Given the description of an element on the screen output the (x, y) to click on. 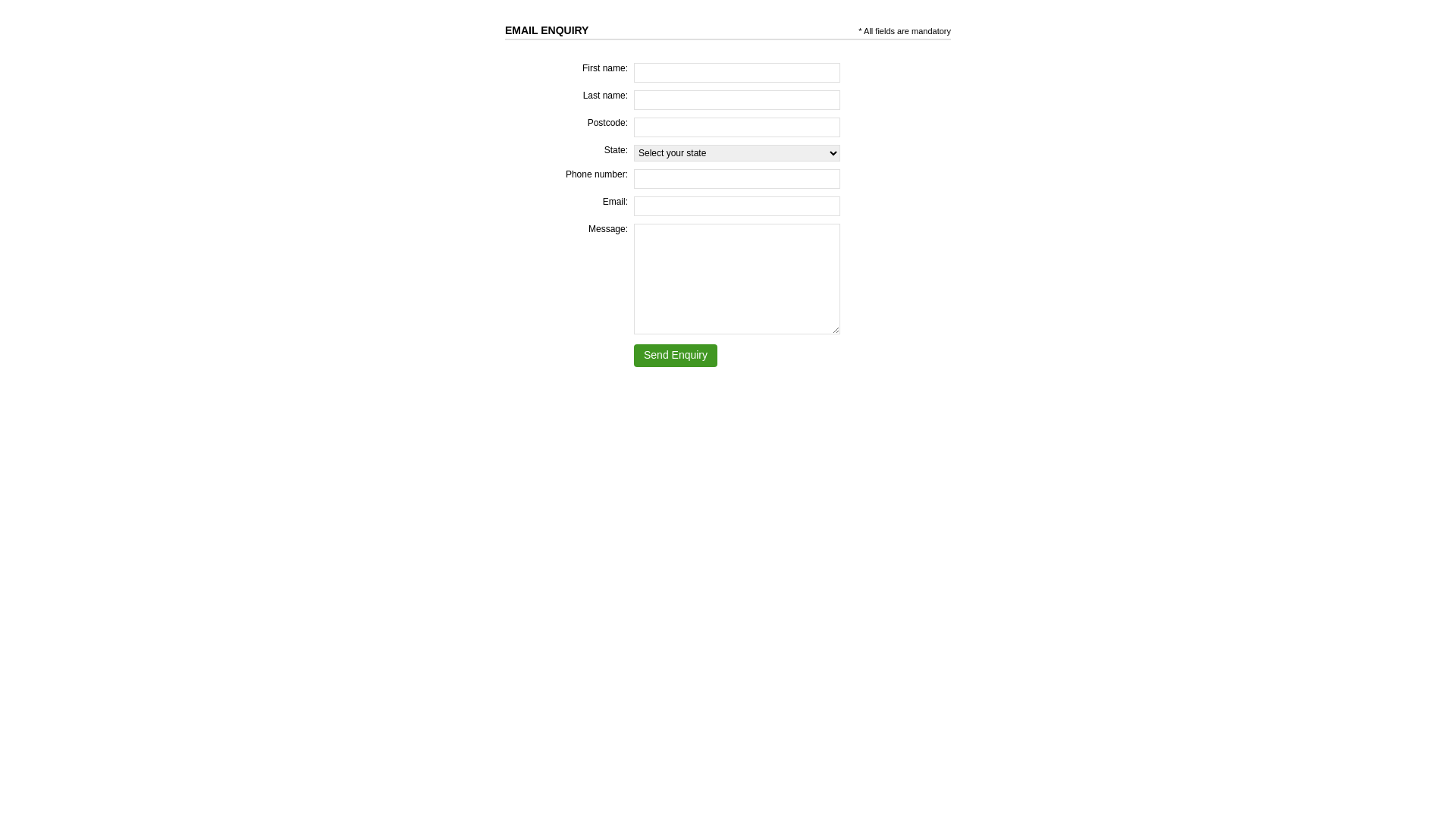
Send Enquiry Element type: text (675, 355)
  Element type: text (589, 30)
